Given the description of an element on the screen output the (x, y) to click on. 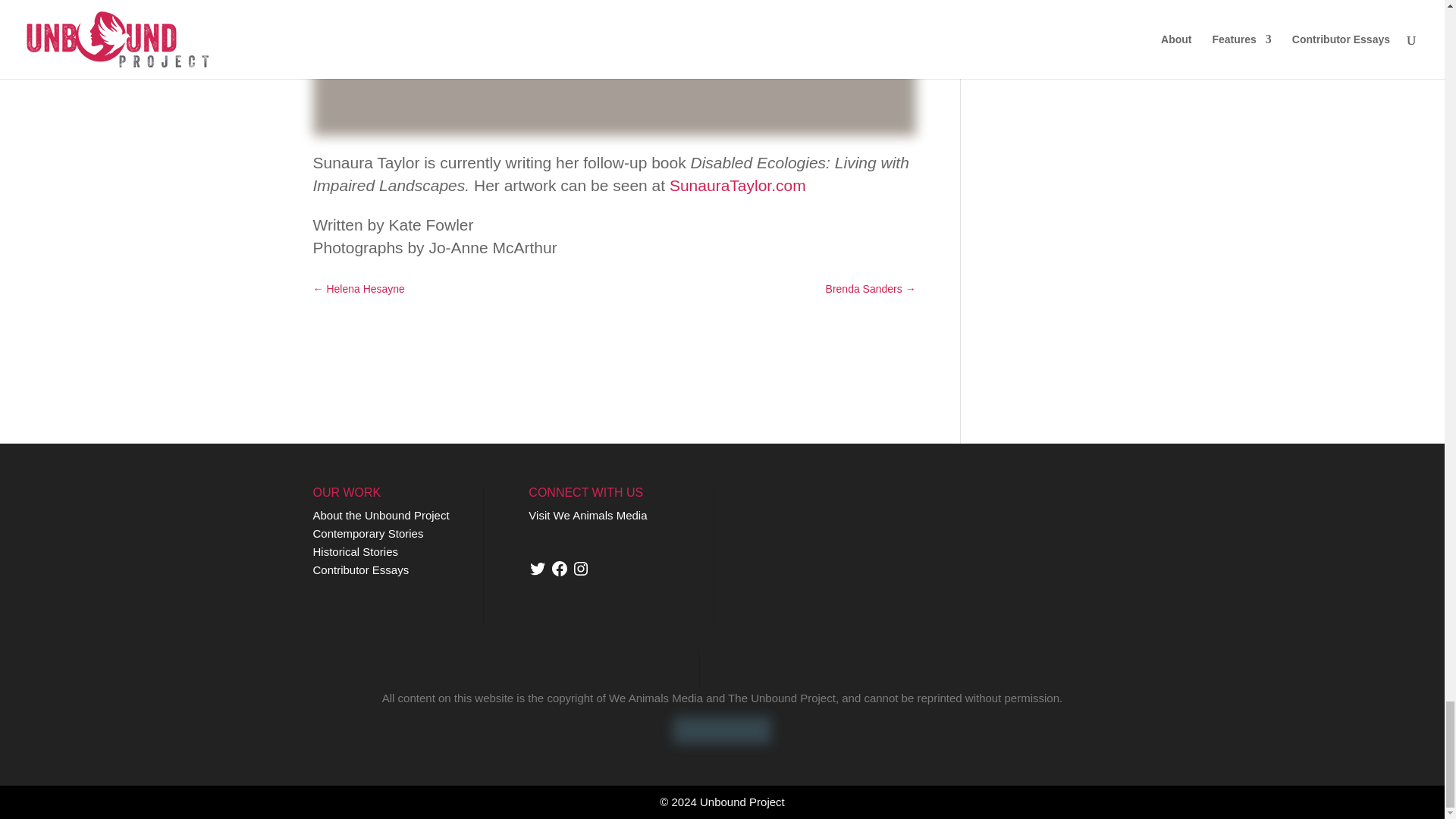
Historical Stories (355, 551)
Instagram (580, 567)
Facebook (559, 567)
Visit We Animals Media (587, 514)
About the Unbound Project (380, 514)
SunauraTaylor.com (737, 185)
Twitter (537, 567)
Contributor Essays (361, 569)
Contemporary Stories (368, 533)
